Given the description of an element on the screen output the (x, y) to click on. 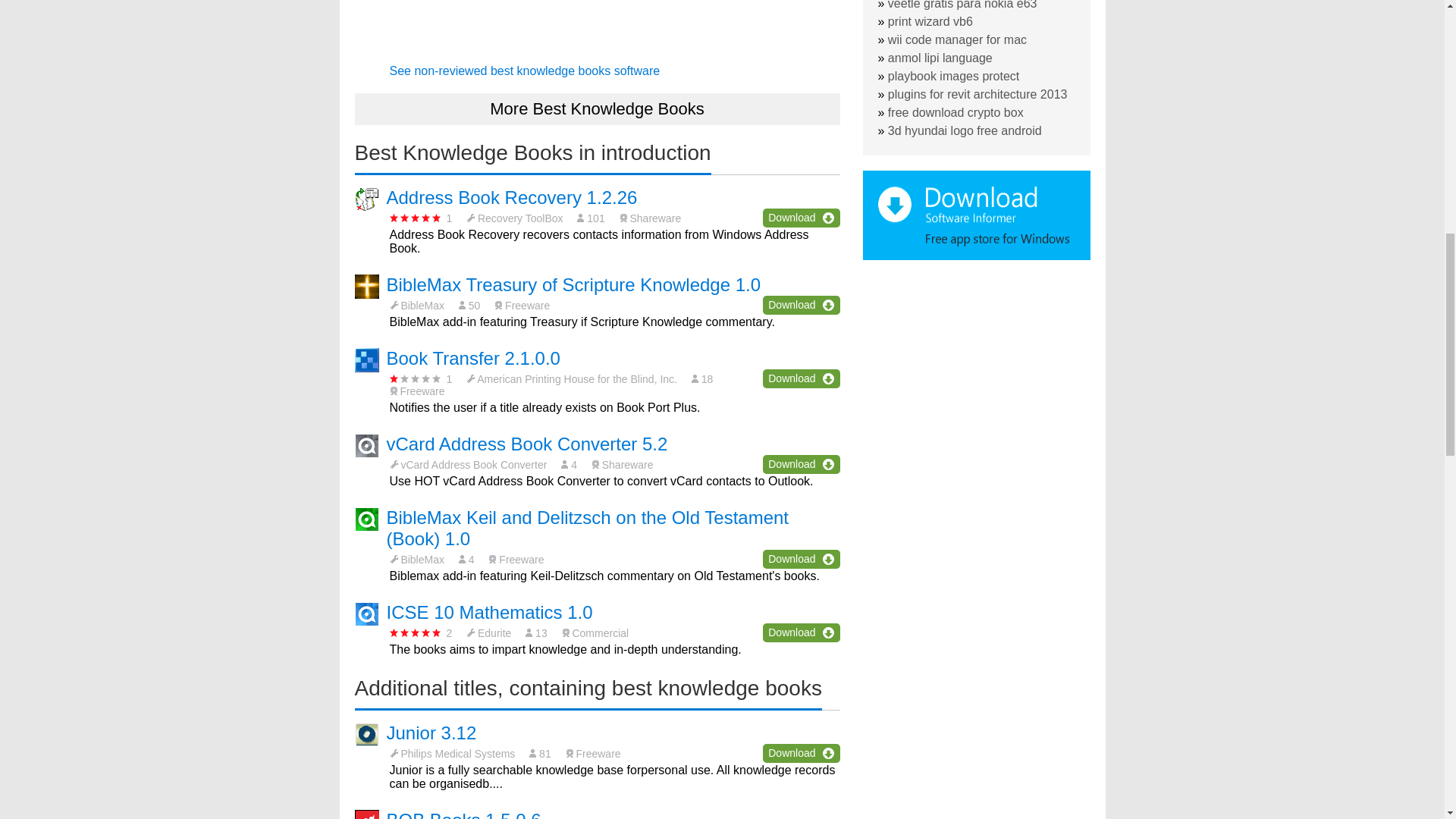
Download (801, 378)
ICSE 10 Mathematics 1.0 (489, 611)
Download (801, 217)
Junior 3.12 (432, 732)
ICSE 10 Mathematics 1.0 (489, 611)
BibleMax Treasury of Scripture Knowledge 1.0 (574, 284)
5 (415, 632)
Download (801, 464)
Download (801, 558)
Download (801, 752)
